Given the description of an element on the screen output the (x, y) to click on. 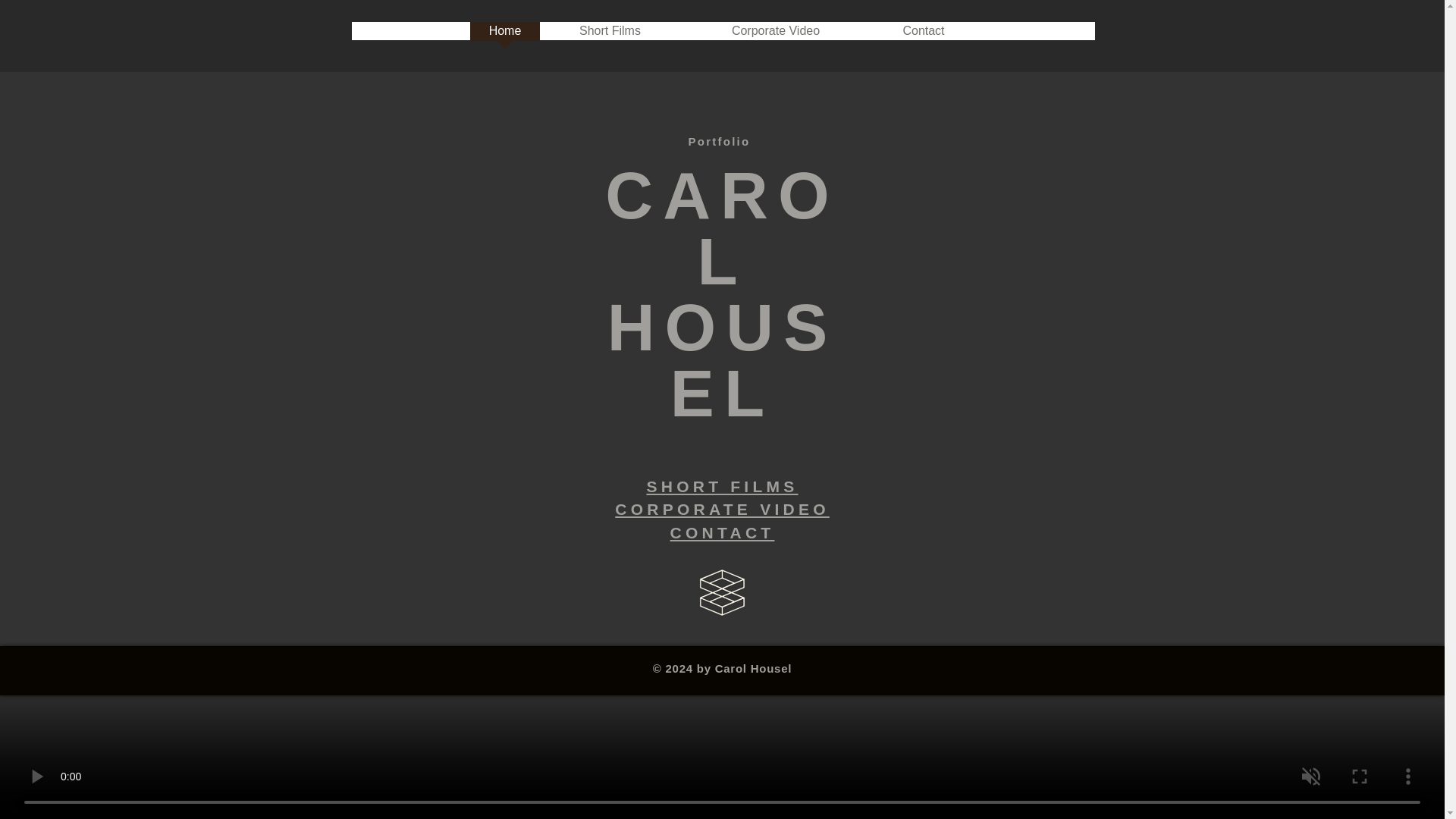
CORPORATE VIDEO (721, 508)
CONTACT (721, 531)
Short Films (609, 35)
Corporate Video (774, 35)
SHORT FILMS (721, 486)
Home (505, 35)
Contact (922, 35)
